Given the description of an element on the screen output the (x, y) to click on. 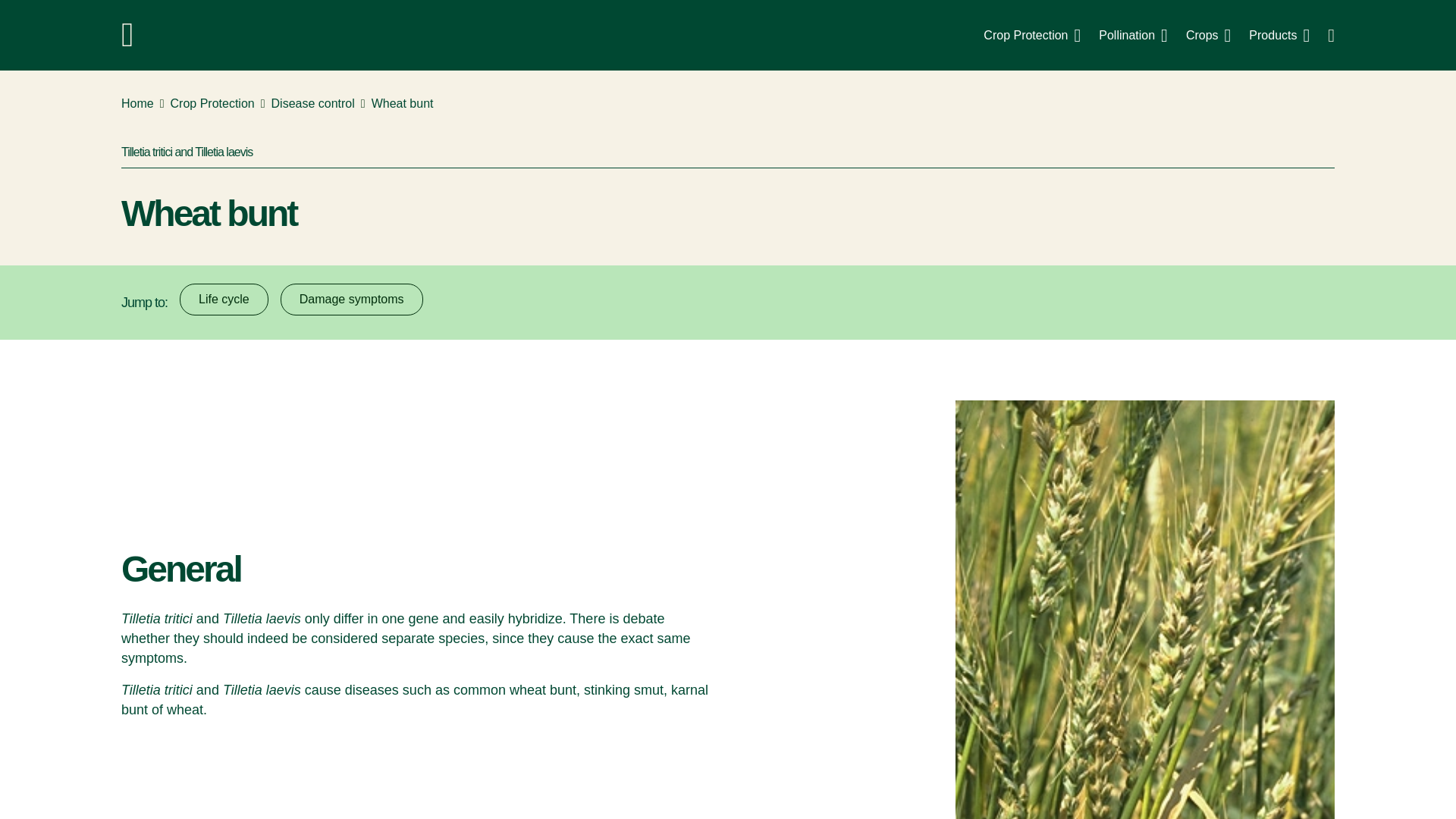
Damage symptoms (352, 299)
Products (1278, 34)
Life cycle (223, 299)
Disease control (728, 35)
Home (312, 104)
Crops (137, 104)
Crop Protection (1208, 34)
Crop Protection (212, 104)
Pollination (1032, 34)
